Given the description of an element on the screen output the (x, y) to click on. 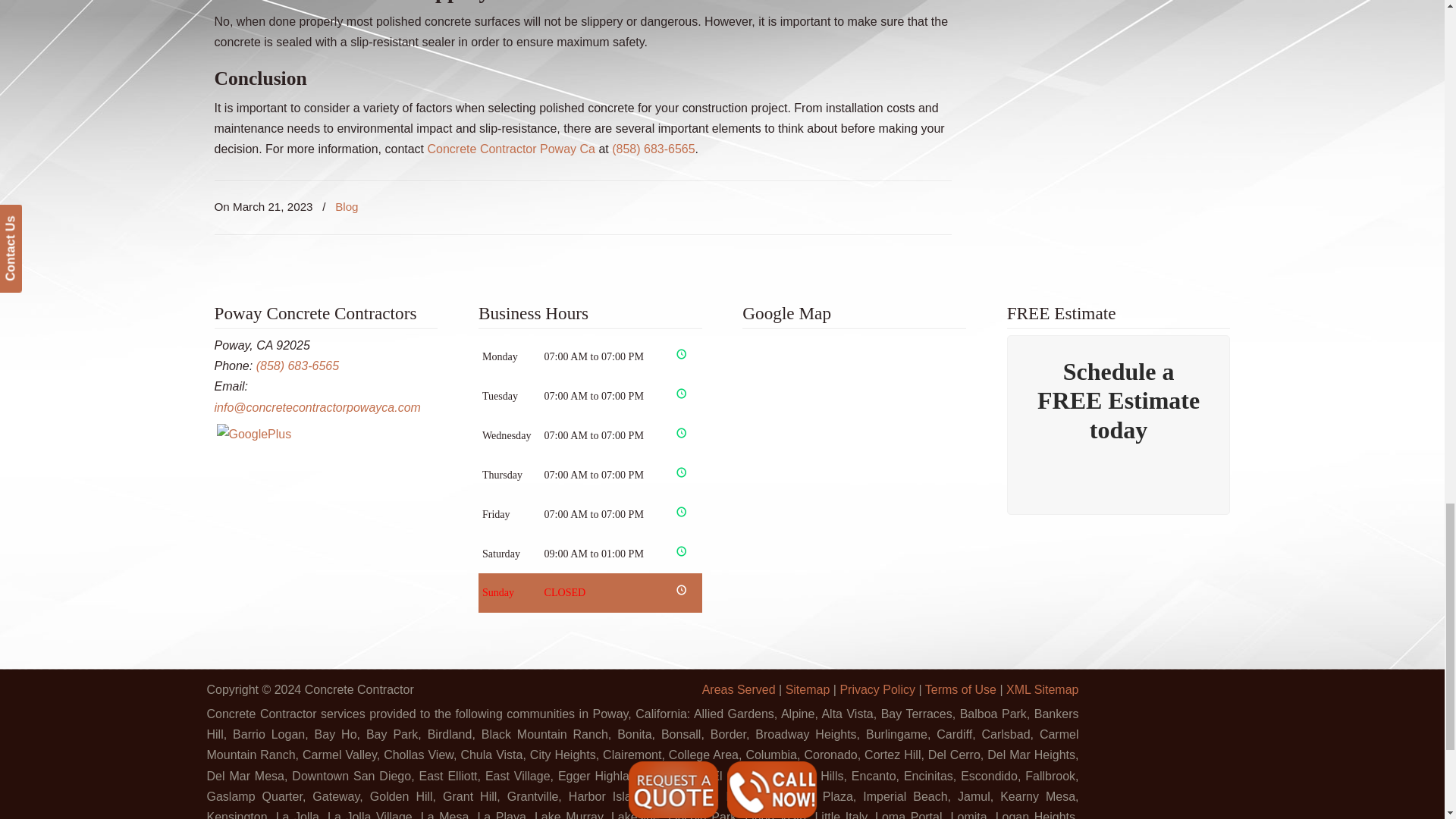
Privacy Policy (877, 689)
Terms of Use (959, 689)
Phone (297, 365)
Areas Served (738, 689)
GooglePlus (254, 433)
Concrete Contractor Poway Ca (511, 148)
Sitemap (807, 689)
Blog (346, 207)
Sitemap (1042, 689)
